Given the description of an element on the screen output the (x, y) to click on. 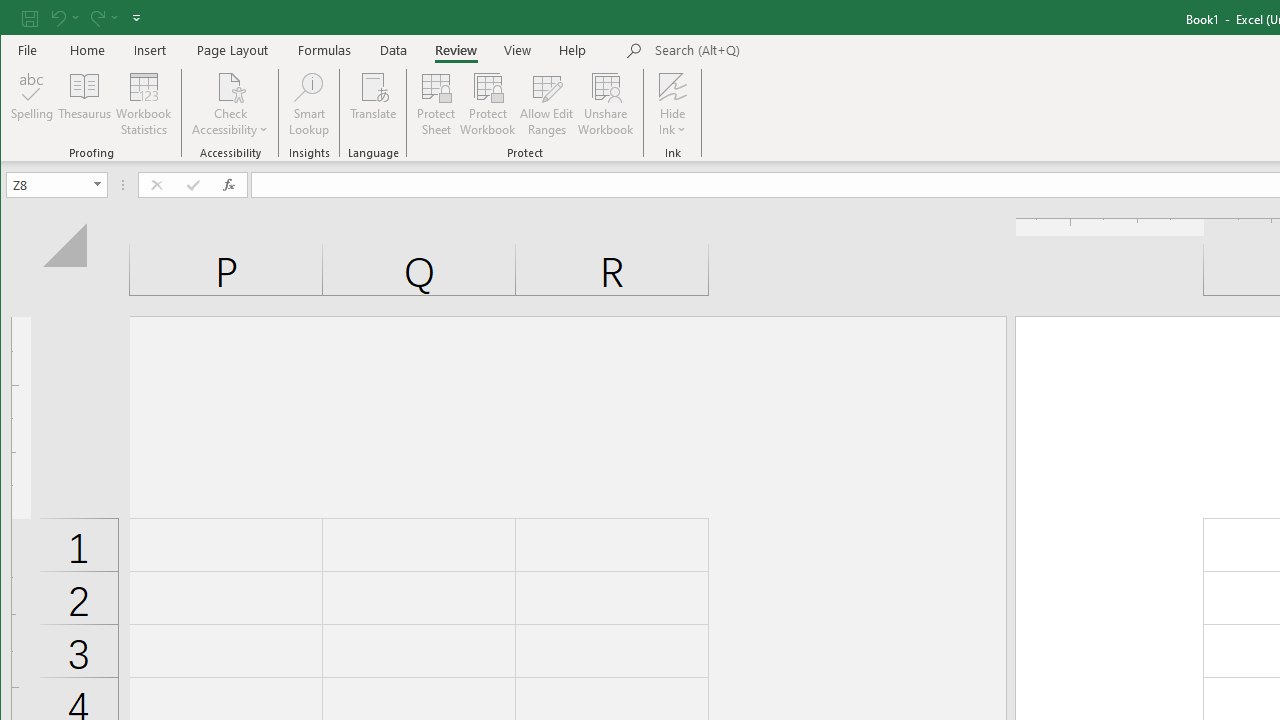
Allow Edit Ranges (547, 104)
Protect Sheet... (436, 104)
Workbook Statistics (143, 104)
Smart Lookup (308, 104)
Unshare Workbook (606, 104)
